Given the description of an element on the screen output the (x, y) to click on. 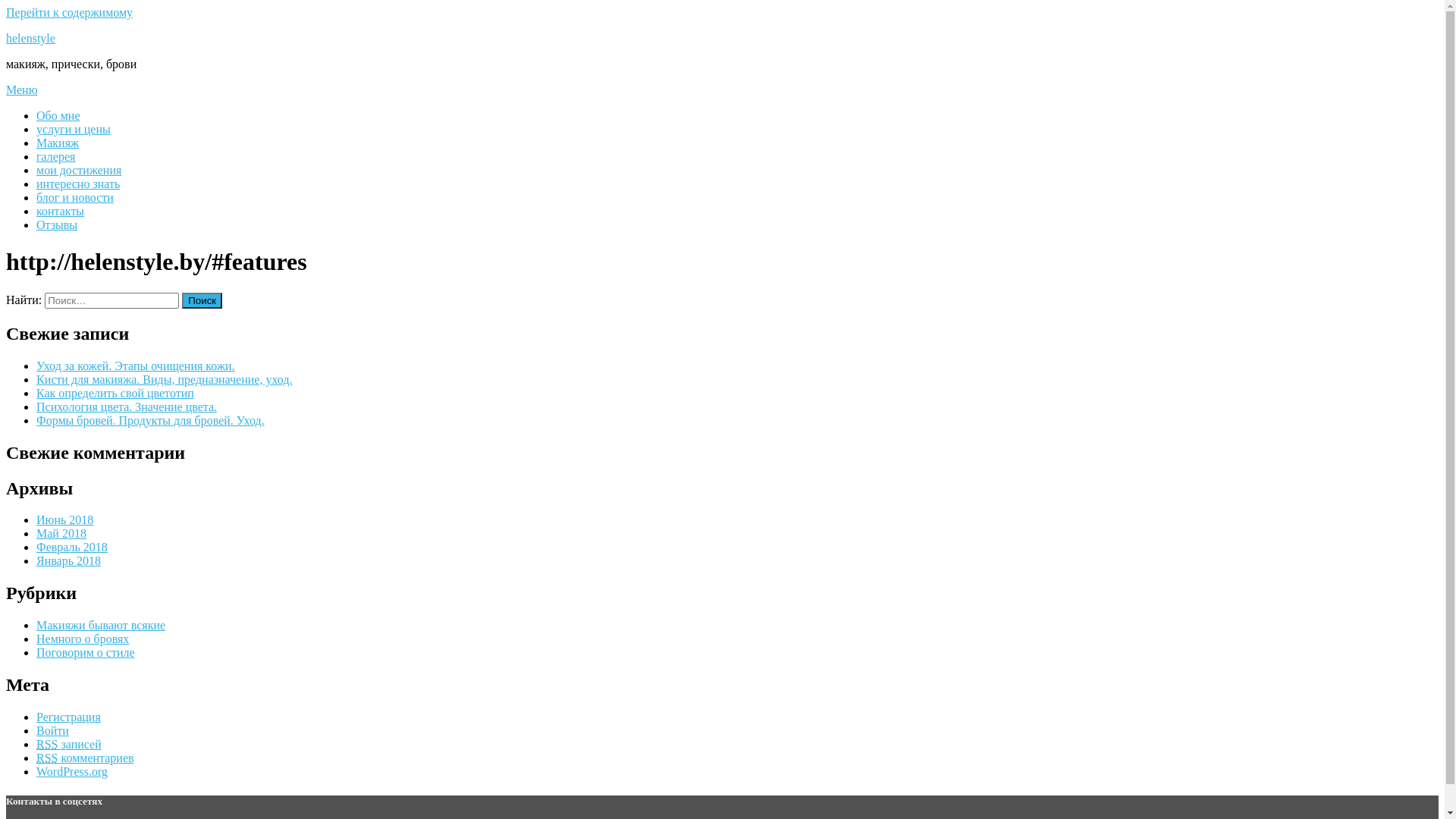
helenstyle Element type: text (30, 37)
WordPress.org Element type: text (71, 771)
